Given the description of an element on the screen output the (x, y) to click on. 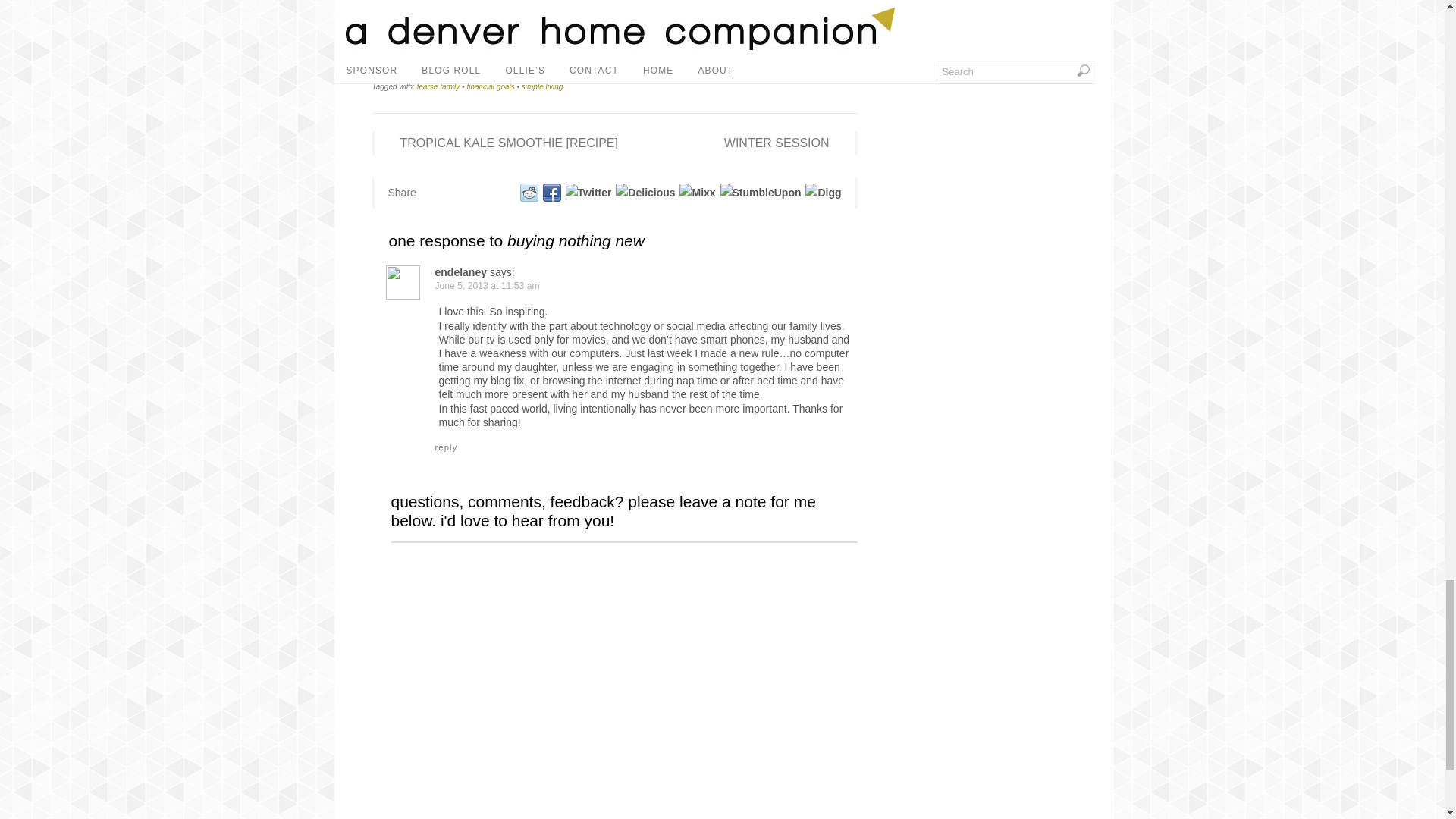
Share on Facebook (550, 192)
fearse family (438, 86)
Comment Form (624, 680)
reply (446, 447)
endelaney (460, 272)
Share on Reddit (528, 192)
financial goals (489, 86)
Share on Twitter (587, 192)
June 5, 2013 at 11:53 am (487, 285)
Share on Delicious (644, 192)
simple living (541, 86)
Share on Mixx (696, 192)
Share on StumbleUpon (760, 192)
Share on Digg (822, 192)
WINTER SESSION (785, 143)
